Given the description of an element on the screen output the (x, y) to click on. 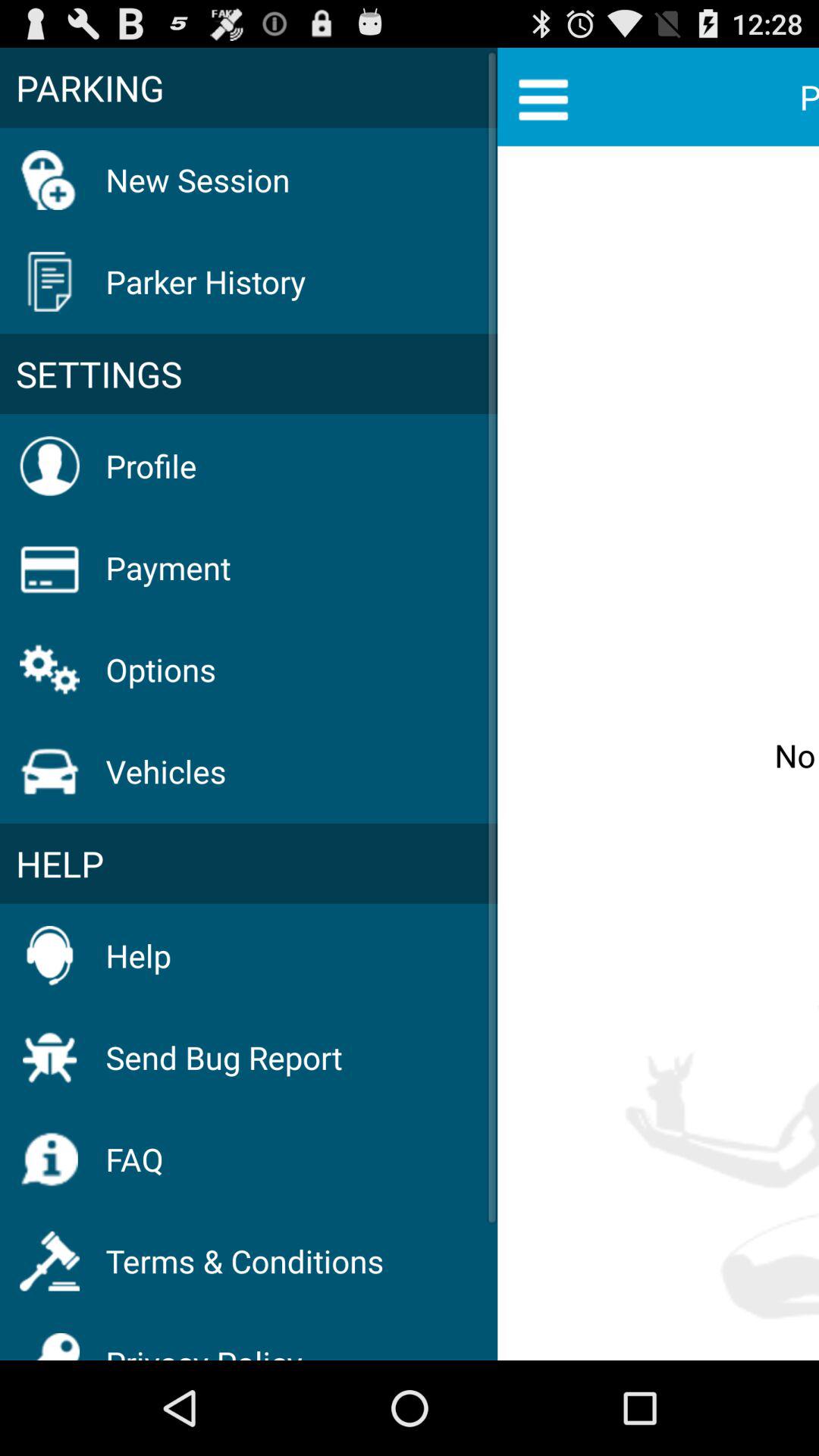
flip until the new session (197, 179)
